Given the description of an element on the screen output the (x, y) to click on. 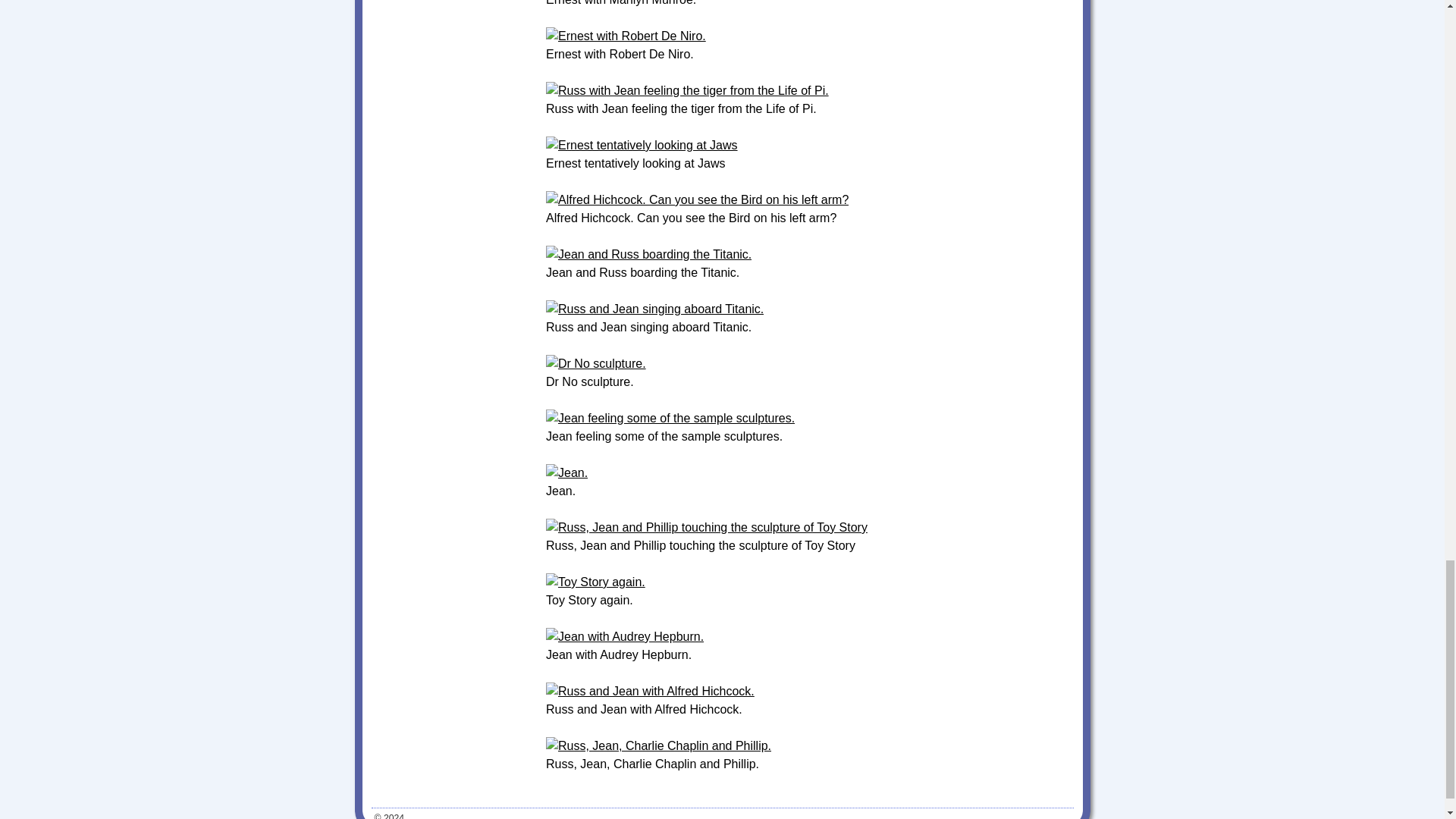
Ernest with Robert De Niro. (626, 35)
Russ with Jean feeling the tiger from the Life of Pi. (687, 90)
